Given the description of an element on the screen output the (x, y) to click on. 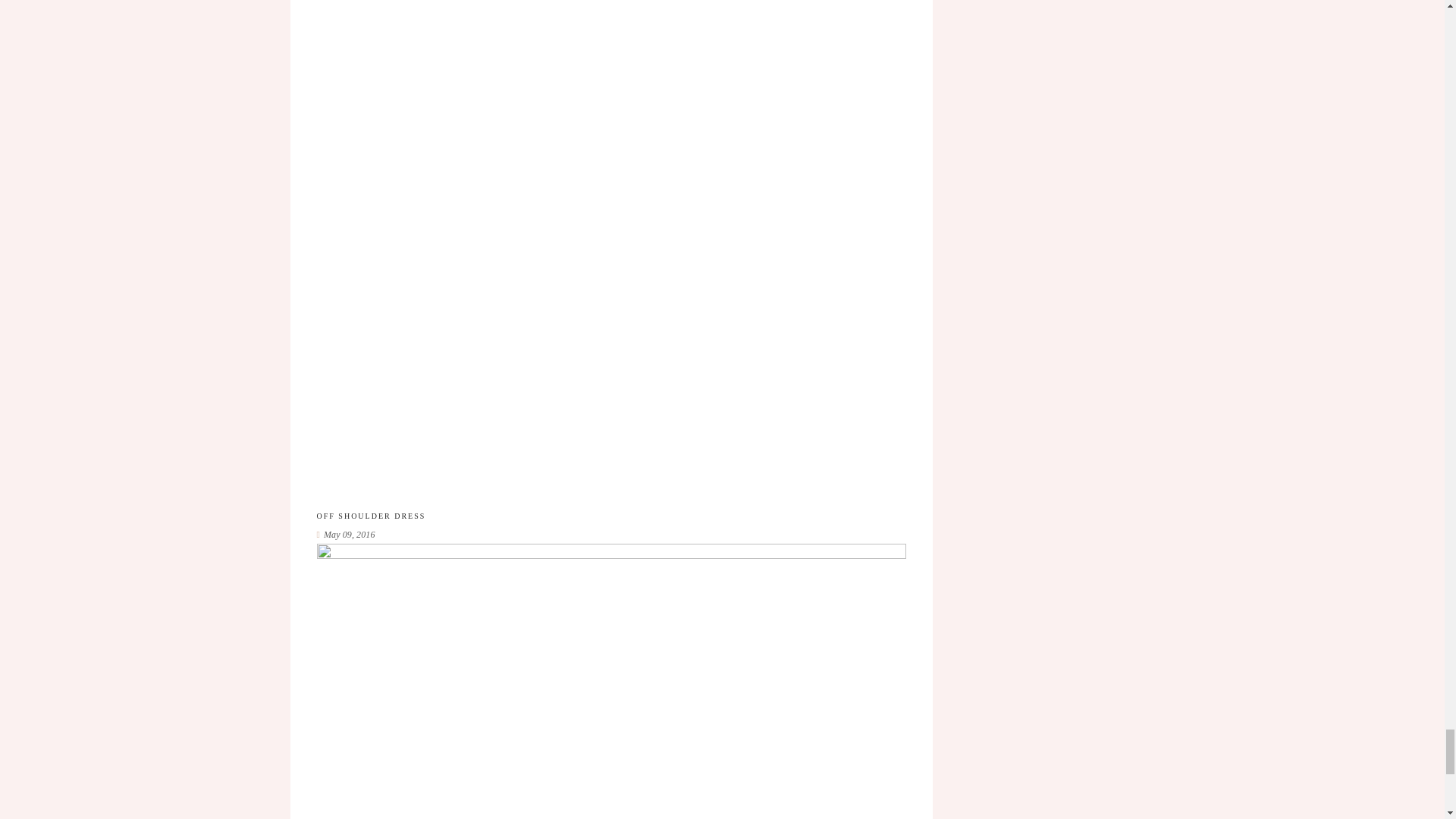
OFF SHOULDER DRESS (371, 515)
